Given the description of an element on the screen output the (x, y) to click on. 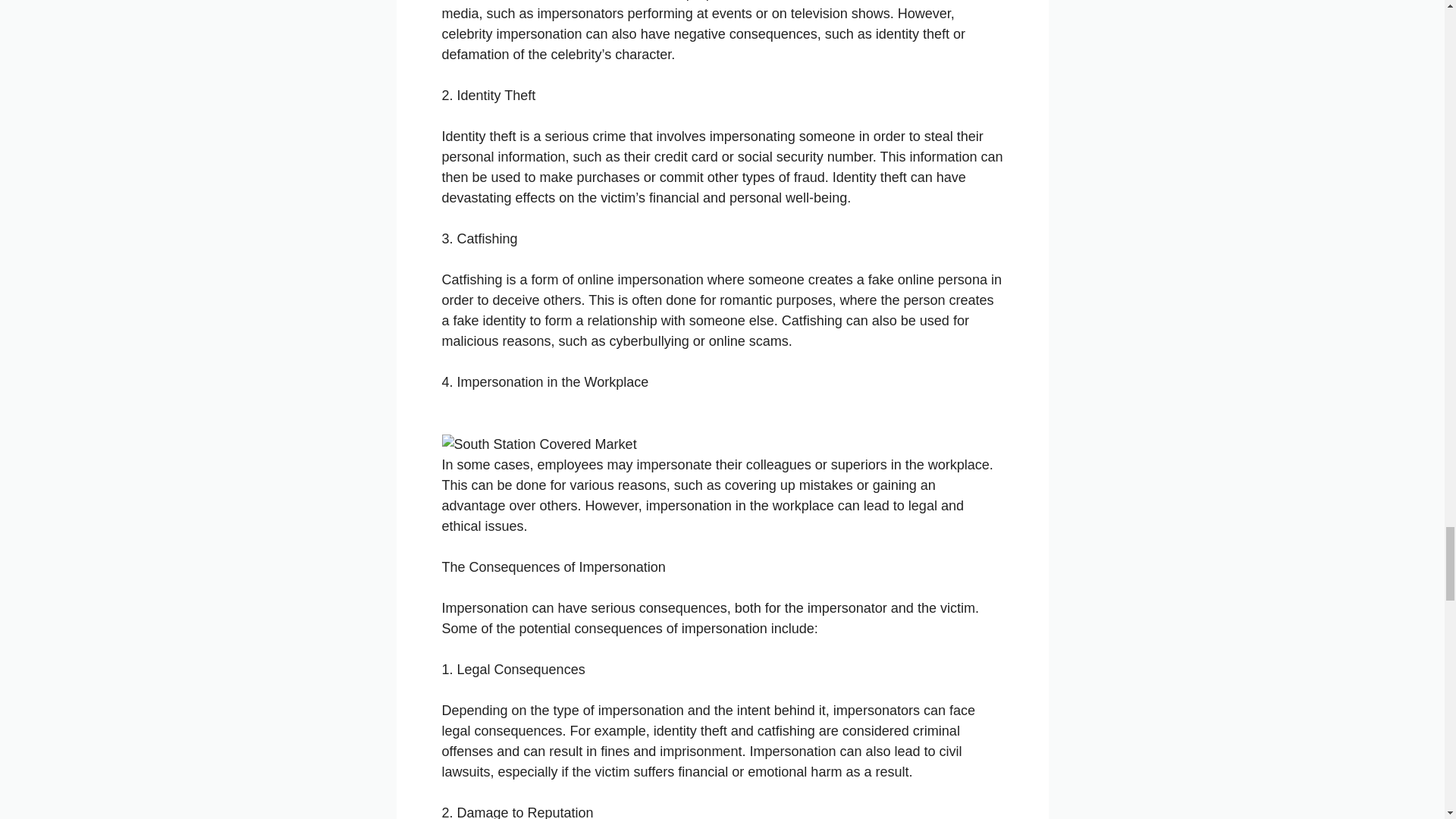
South Station Covered Market (538, 444)
